Given the description of an element on the screen output the (x, y) to click on. 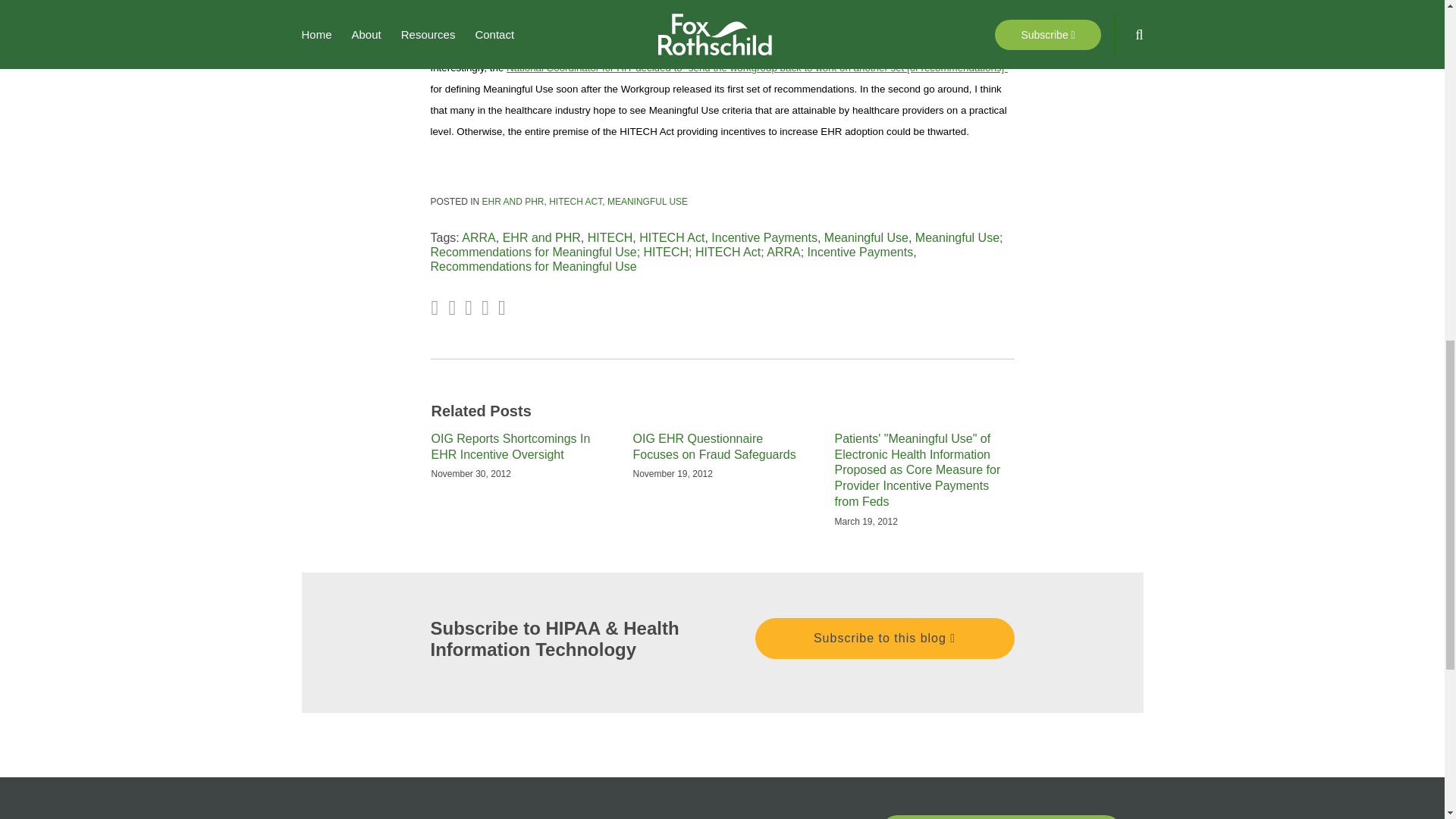
MEANINGFUL USE (647, 201)
HITECH Act (671, 237)
OIG EHR Questionnaire Focuses on Fraud Safeguards (720, 447)
ARRA (478, 237)
HITECH ACT (575, 201)
OIG Reports Shortcomings In EHR Incentive Oversight (520, 447)
The Fox Legal Network (999, 816)
HITECH (610, 237)
EHR and PHR (541, 237)
EHR AND PHR (512, 201)
Incentive Payments (763, 237)
Subscribe to this blog (884, 637)
Meaningful Use (866, 237)
